Given the description of an element on the screen output the (x, y) to click on. 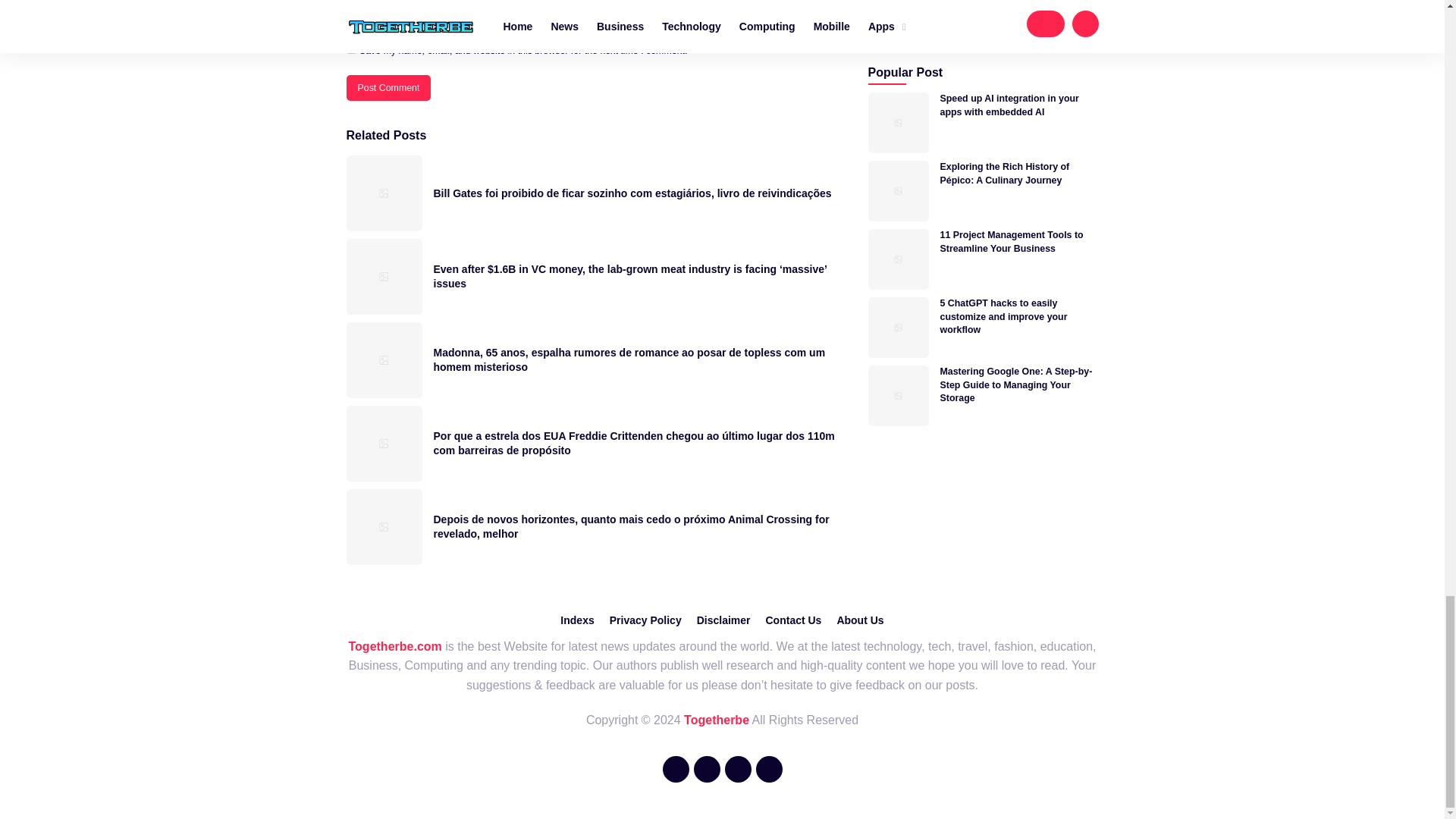
yes (350, 49)
Post Comment (388, 87)
